Given the description of an element on the screen output the (x, y) to click on. 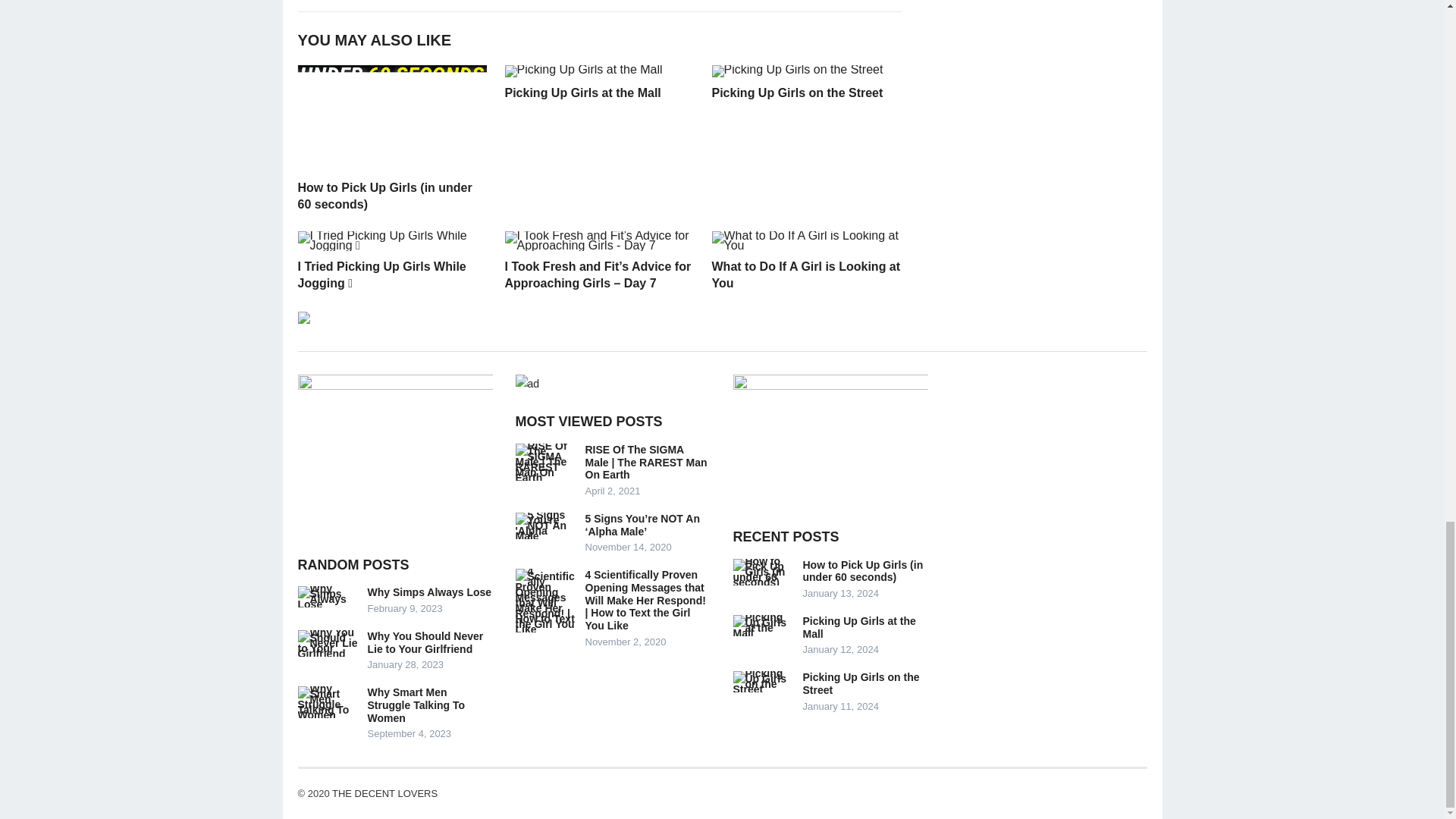
Picking Up Girls on the Street 6 (796, 70)
Why You Should Never Lie to Your Girlfriend 14 (327, 642)
What to Do If A Girl is Looking at You 12 (805, 240)
Why Simps Always Lose 13 (327, 596)
5 Signs You're NOT An 'Alpha Male' 17 (545, 525)
Why Smart Men Struggle Talking To Women 15 (327, 702)
Picking Up Girls on the Street (796, 92)
Picking Up Girls at the Mall 4 (583, 70)
Picking Up Girls at the Mall (583, 92)
